Given the description of an element on the screen output the (x, y) to click on. 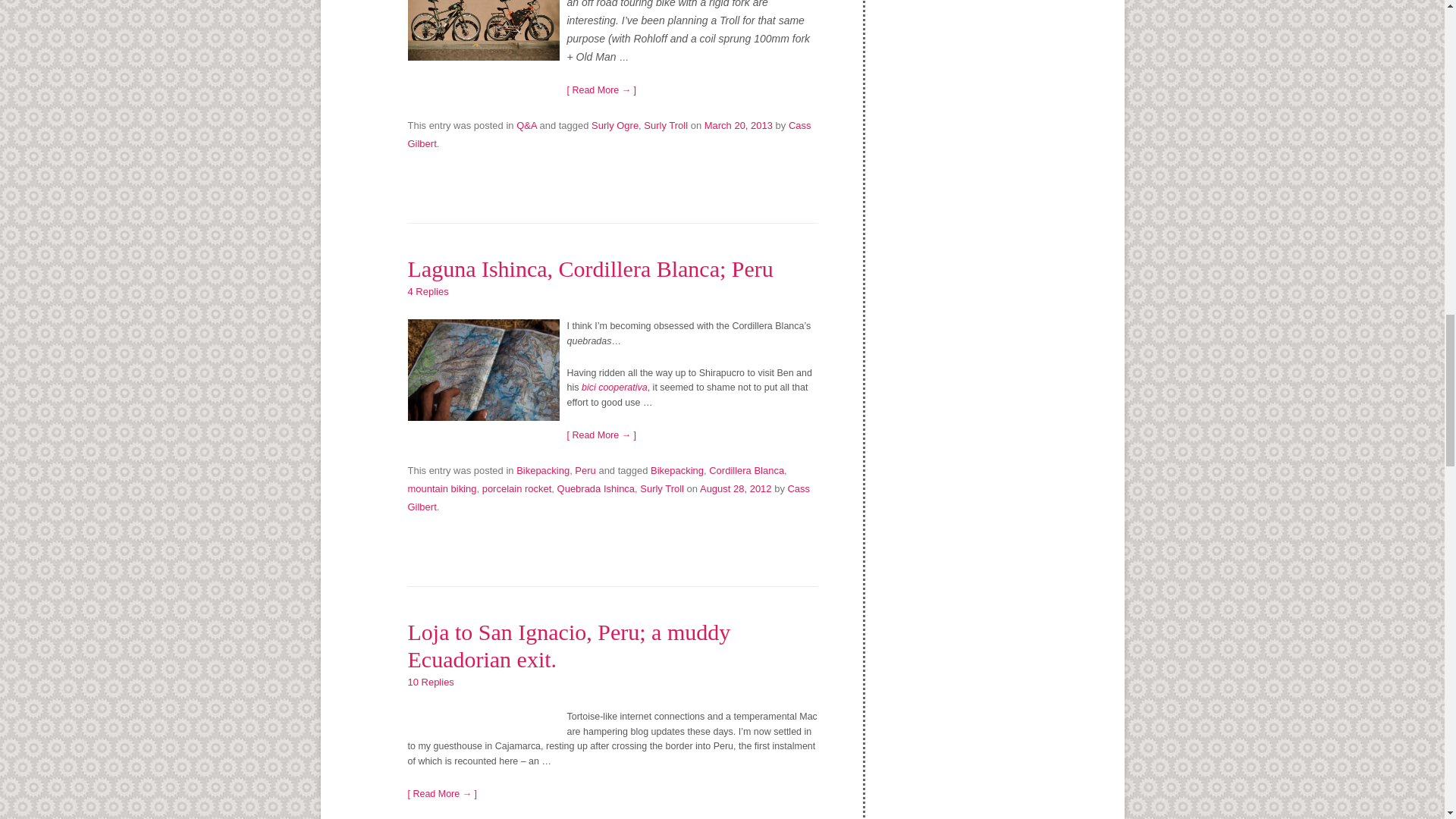
View all posts by Cass Gilbert (608, 134)
Permalink to Laguna Ishinca, Cordillera Blanca; Peru (590, 268)
2:18 pm (738, 125)
